Given the description of an element on the screen output the (x, y) to click on. 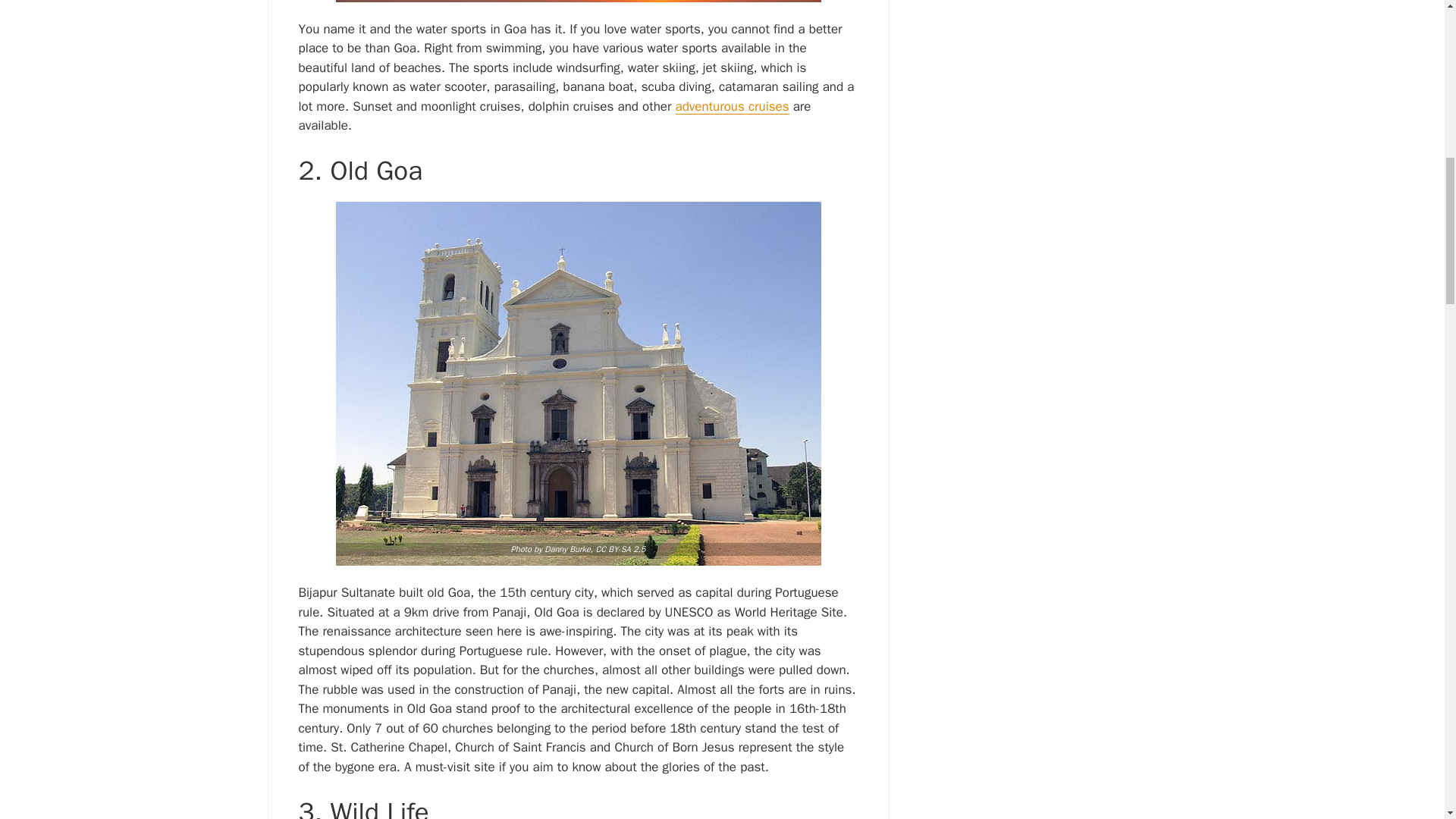
Scroll back to top (1406, 720)
